Given the description of an element on the screen output the (x, y) to click on. 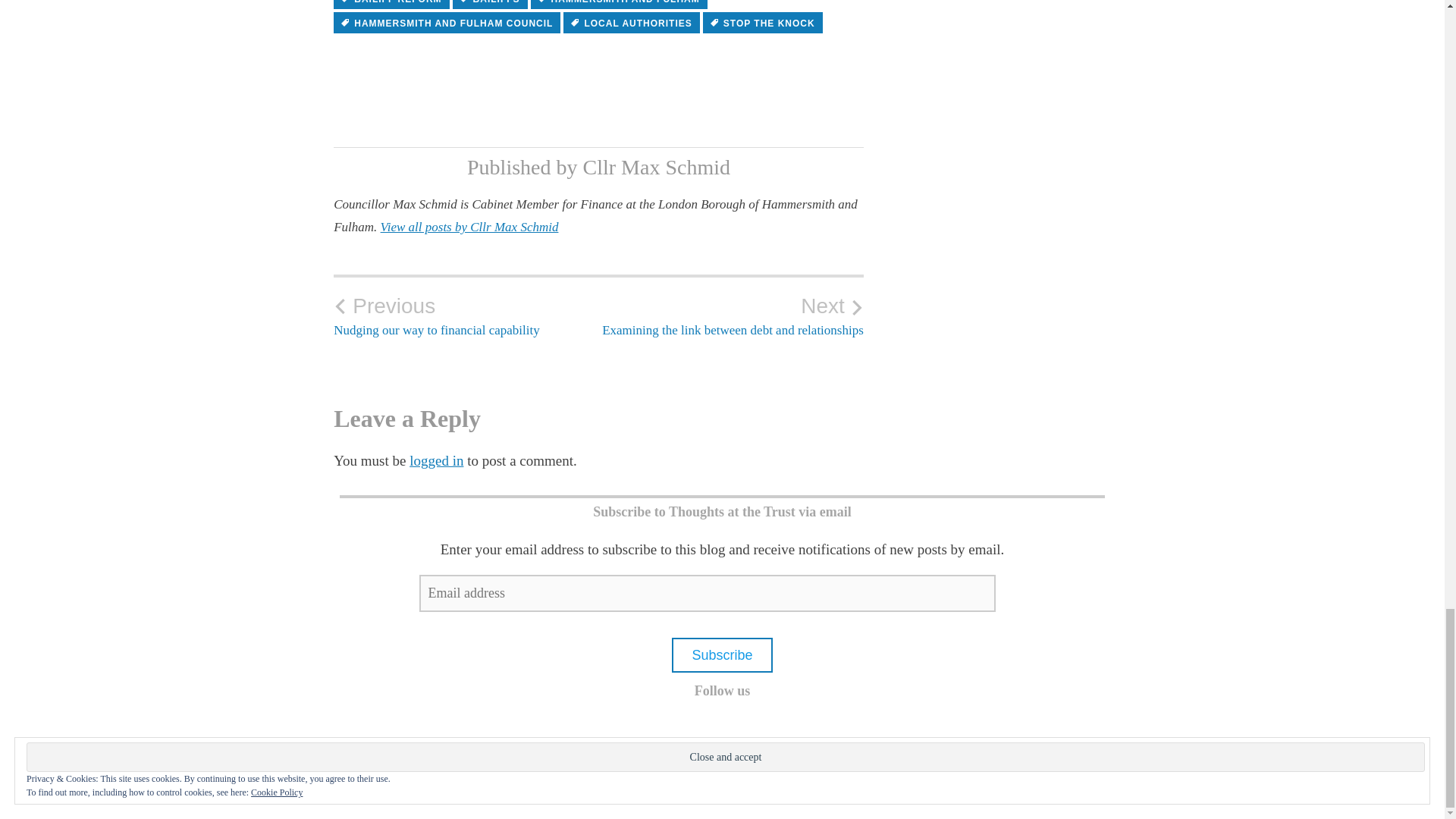
HAMMERSMITH AND FULHAM COUNCIL (446, 22)
HAMMERSMITH AND FULHAM (619, 4)
View all posts by Cllr Max Schmid (469, 227)
BAILIFFS (730, 316)
BAILIFF REFORM (489, 4)
STOP THE KNOCK (390, 4)
LOCAL AUTHORITIES (465, 316)
logged in (762, 22)
